Given the description of an element on the screen output the (x, y) to click on. 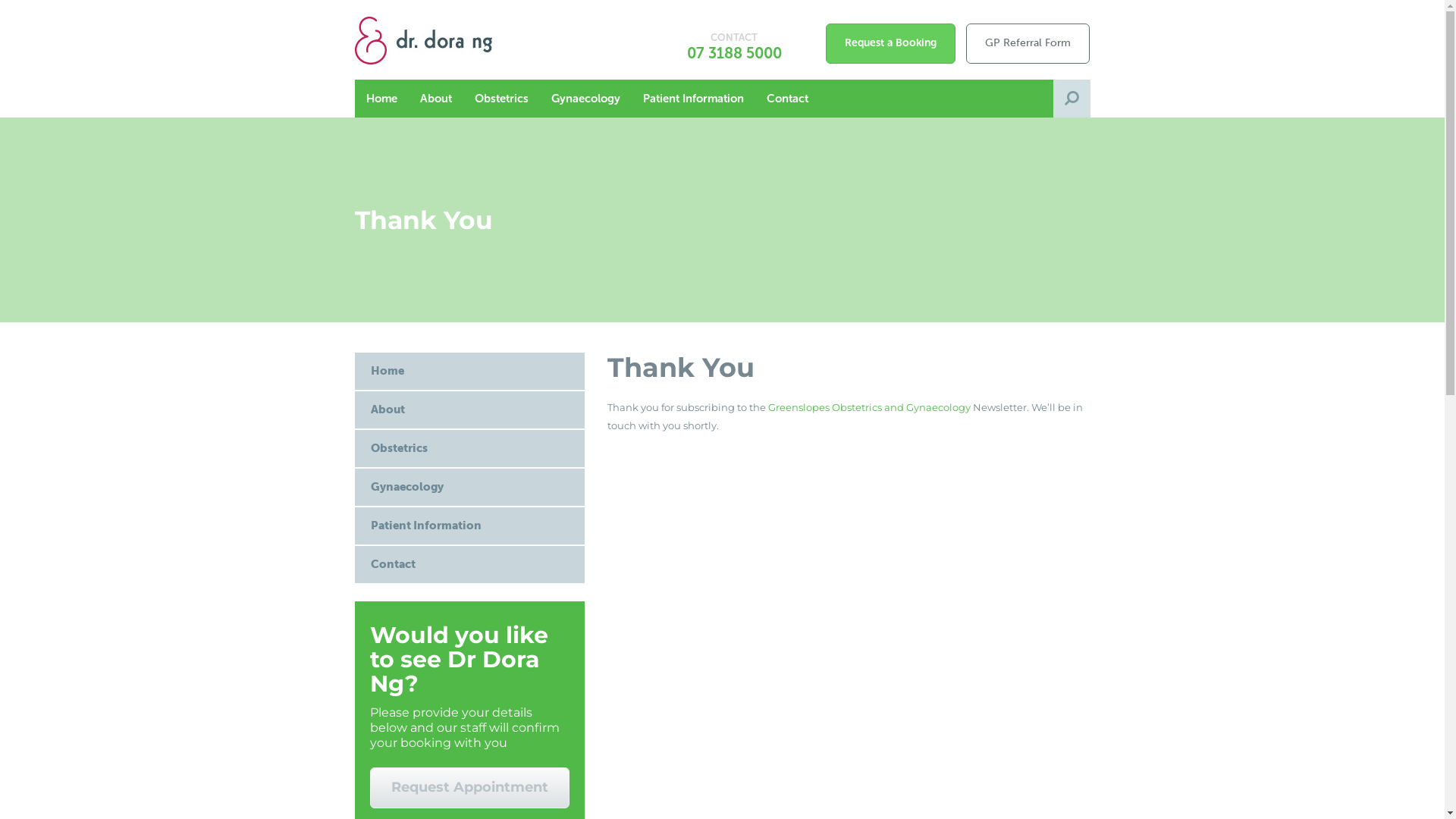
GP Referral Form Element type: text (1027, 43)
Greenslopes Obstetrics and Gynaecology Element type: text (869, 407)
Patient Information Element type: text (692, 98)
About Element type: text (469, 409)
Patient Information Element type: text (469, 525)
Dr Dora Ng Element type: hover (444, 39)
Contact Element type: text (469, 564)
Home Element type: text (381, 98)
About Element type: text (434, 98)
Gynaecology Element type: text (585, 98)
Request a Booking Element type: text (890, 43)
Gynaecology Element type: text (469, 486)
Contact Element type: text (787, 98)
07 3188 5000 Element type: text (734, 52)
Obstetrics Element type: text (469, 448)
Request Appointment Element type: text (469, 787)
Home Element type: text (469, 370)
Obstetrics Element type: text (500, 98)
